Given the description of an element on the screen output the (x, y) to click on. 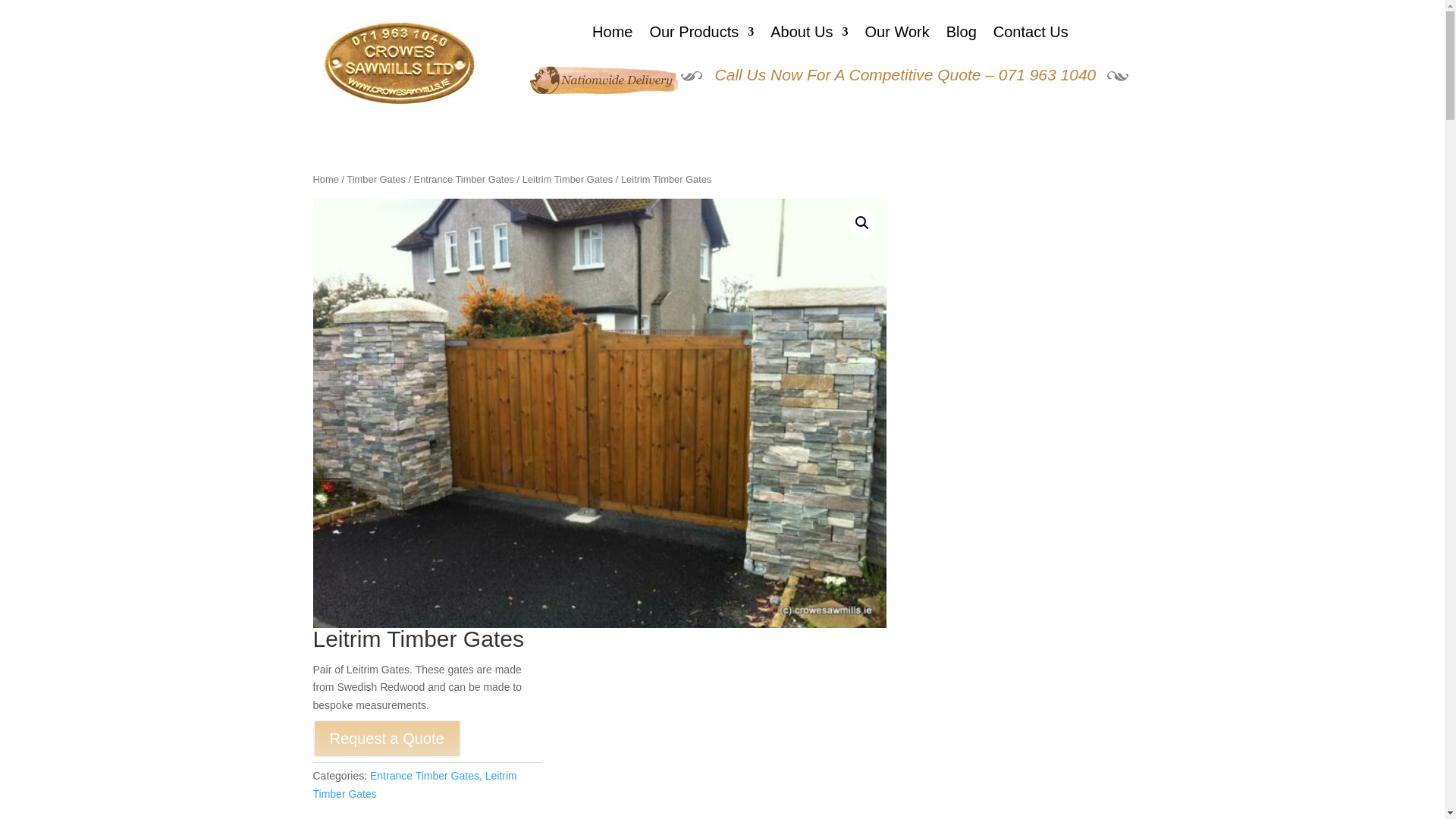
crowes-logo-v1 (399, 62)
Contact Us (1030, 34)
Our Products (701, 34)
Home (611, 34)
Our Work (897, 34)
Blog (961, 34)
About Us (808, 34)
